Given the description of an element on the screen output the (x, y) to click on. 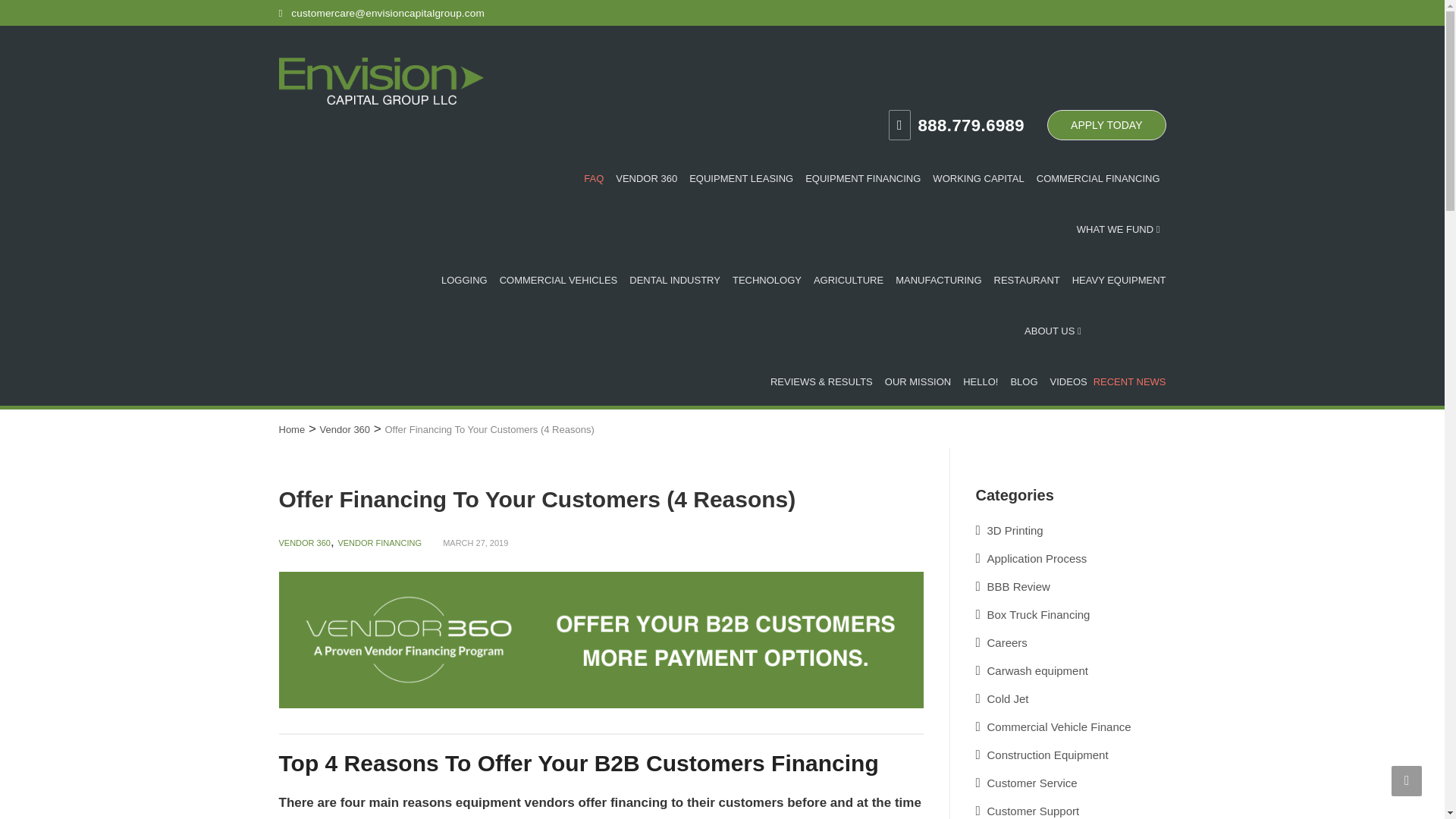
Go to Envision Capital Group. (292, 429)
VENDOR 360 (646, 176)
888.779.6989 (956, 124)
WORKING CAPITAL (977, 176)
Go to the Vendor 360 category archives. (345, 429)
APPLY TODAY (1106, 124)
EQUIPMENT LEASING (740, 176)
EQUIPMENT FINANCING (862, 176)
